Given the description of an element on the screen output the (x, y) to click on. 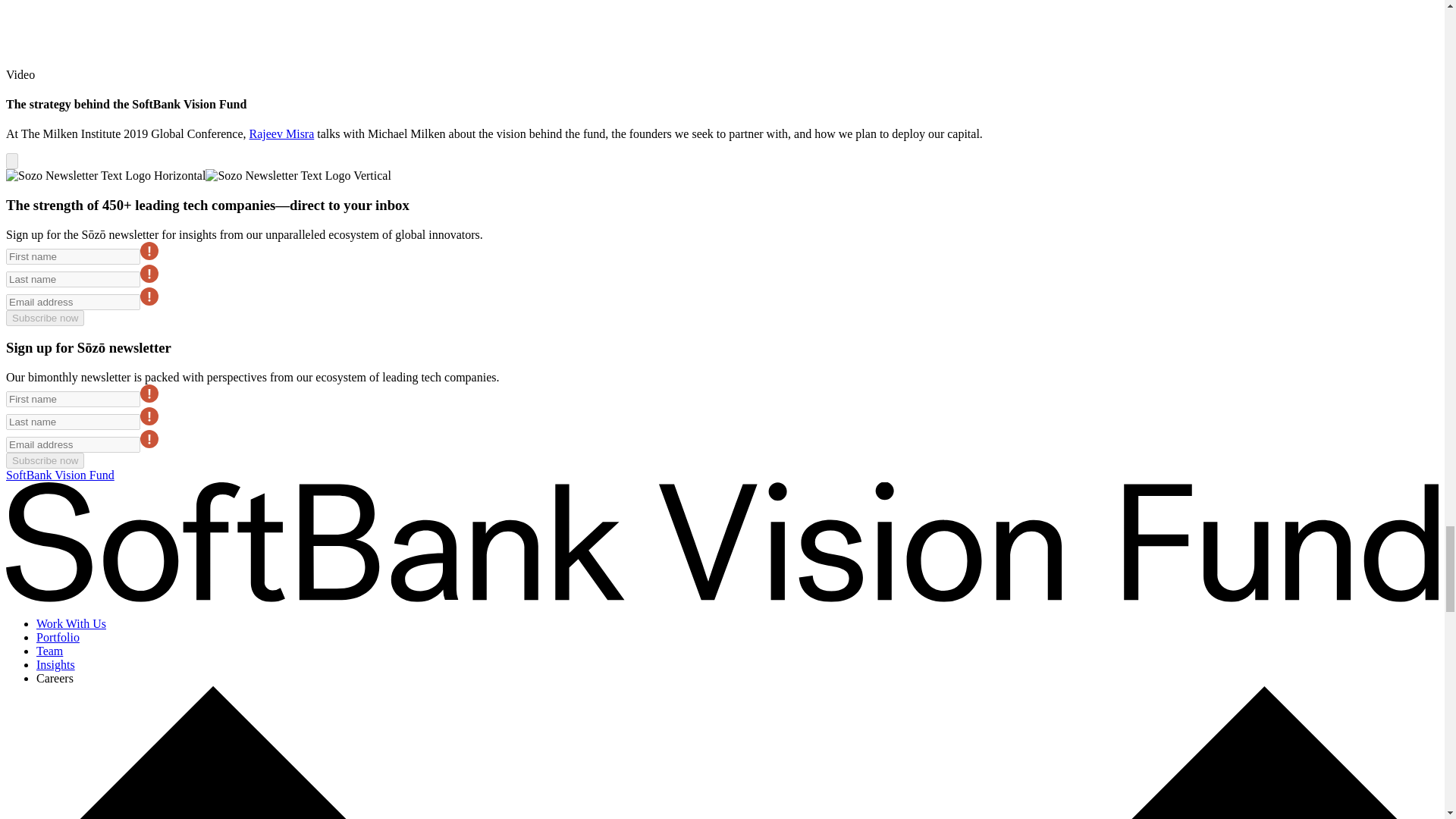
Subscribe now (44, 317)
Rajeev Misra (281, 133)
Subscribe now (44, 460)
Portfolio (58, 636)
Team (49, 650)
Work With Us (71, 623)
Insights (55, 664)
